Given the description of an element on the screen output the (x, y) to click on. 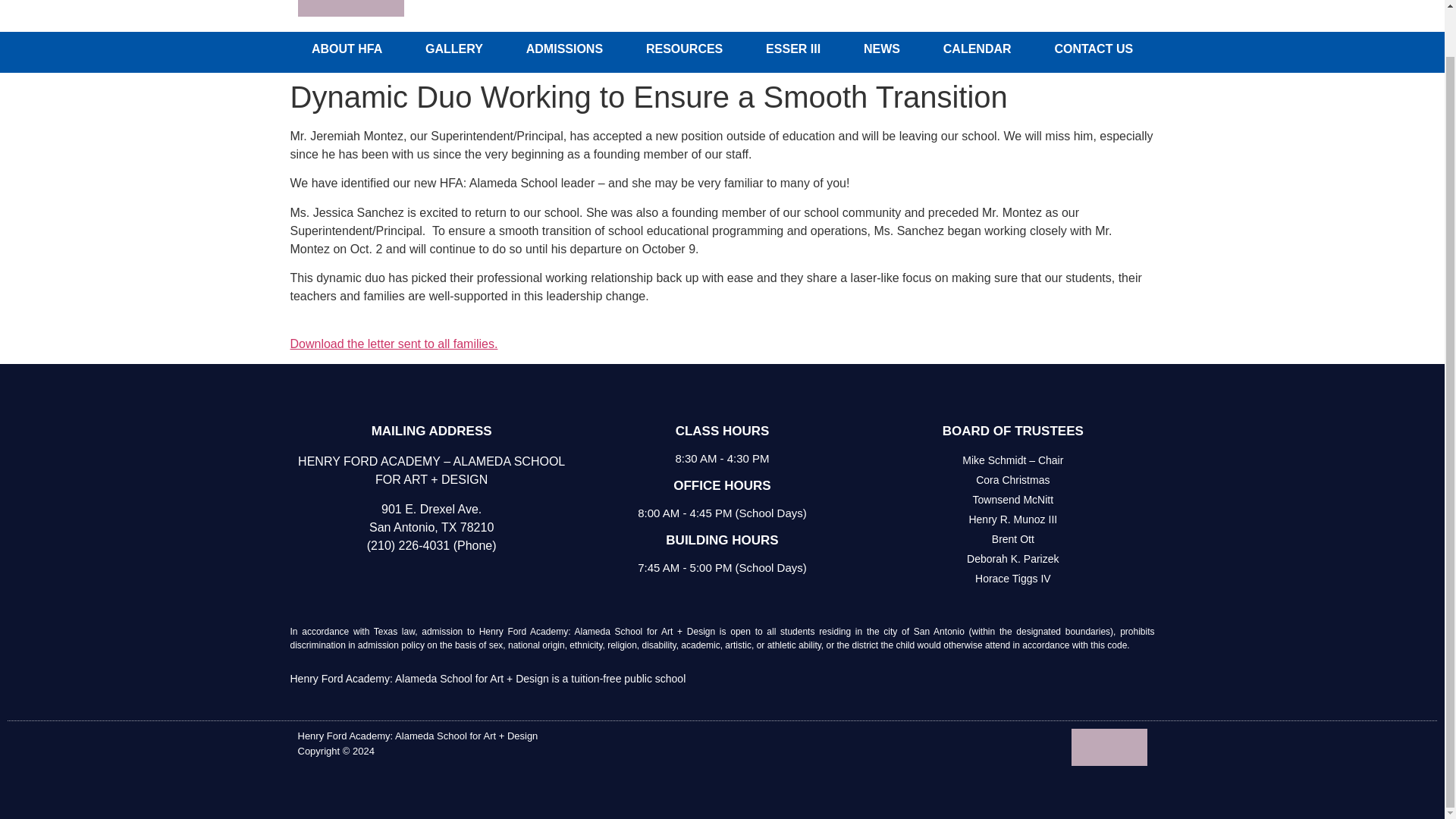
ABOUT HFA (346, 48)
ADMISSIONS (563, 48)
NEWS (882, 48)
RESOURCES (684, 48)
Download the letter sent to all families. (393, 352)
ESSER III (793, 48)
CALENDAR (976, 48)
GALLERY (454, 48)
CONTACT US (1093, 48)
